Given the description of an element on the screen output the (x, y) to click on. 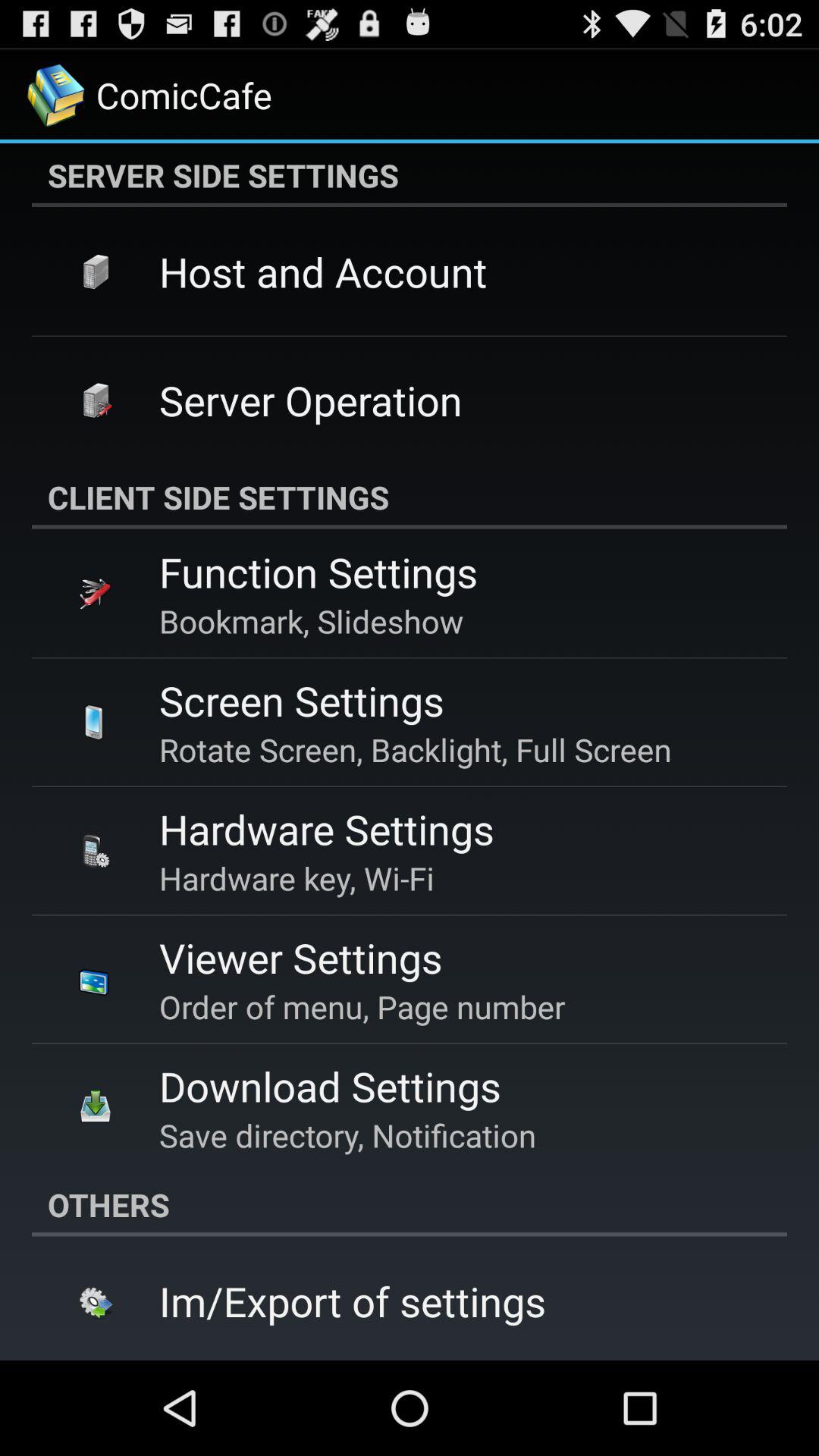
jump to im export of app (352, 1300)
